Given the description of an element on the screen output the (x, y) to click on. 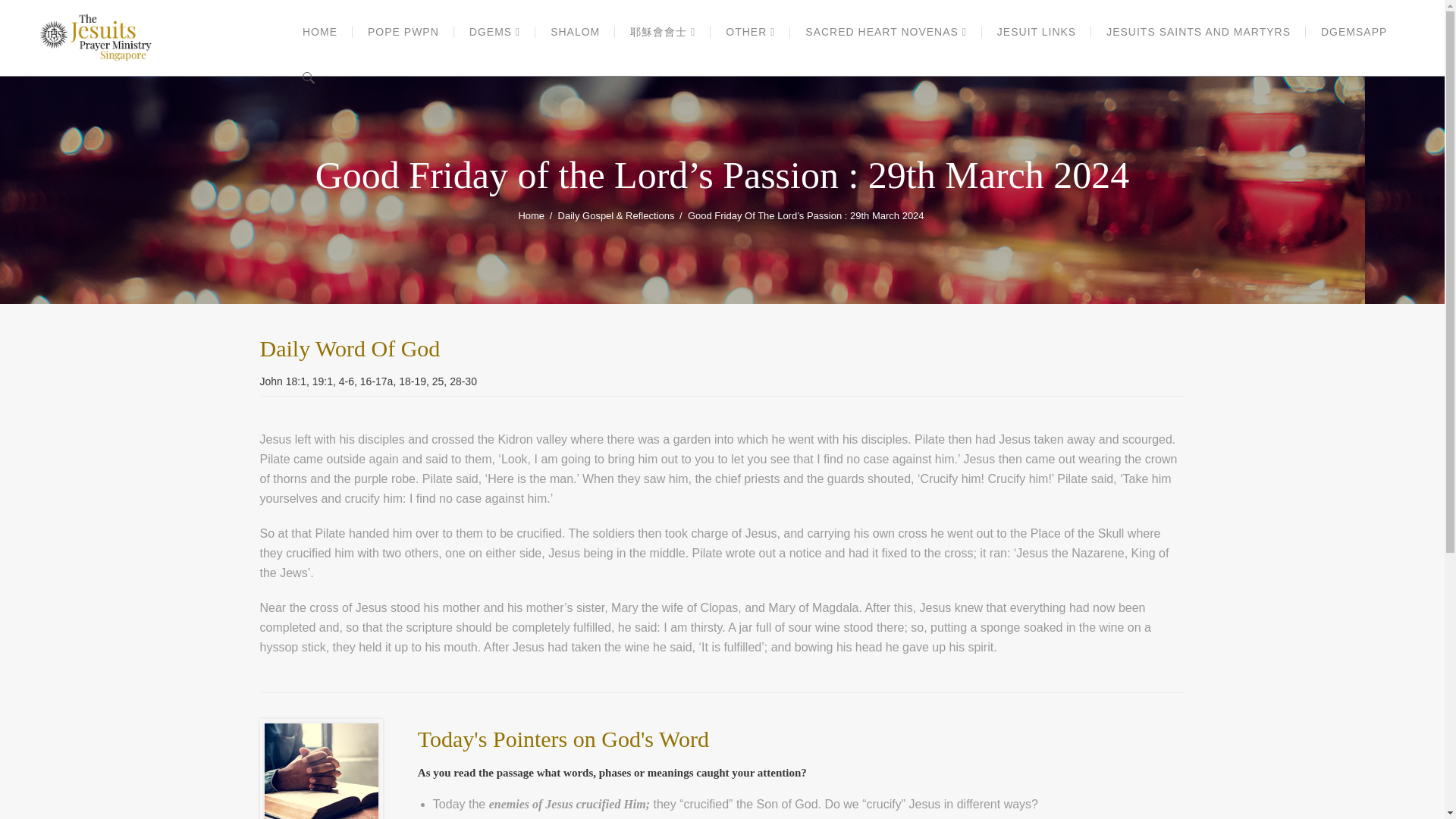
SACRED HEART NOVENAS (885, 32)
SHALOM (575, 31)
DGEMSAPP (1353, 31)
POPE PWPN (402, 31)
Search (1177, 43)
DGEMS (494, 32)
JESUITS SAINTS AND MARTYRS (1198, 31)
Home (531, 216)
JESUIT LINKS (1036, 31)
Praying (320, 771)
